Given the description of an element on the screen output the (x, y) to click on. 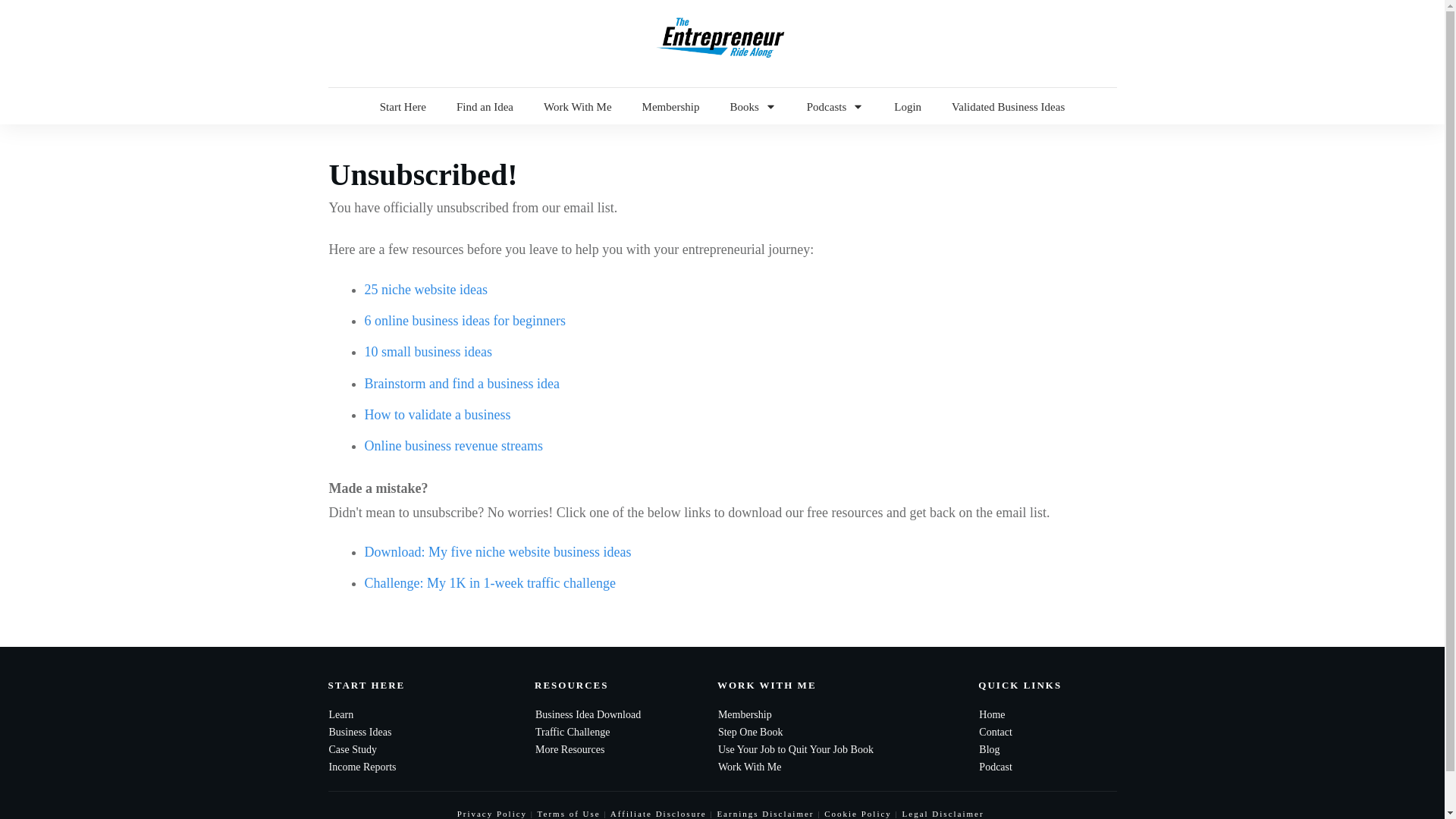
Find an Idea (485, 106)
Work With Me (577, 106)
Challenge: My 1K in 1-week traffic challenge (489, 582)
Membership (671, 106)
Traffic Challenge (572, 731)
Home (991, 714)
Download: My five niche website business ideas (497, 551)
More Resources (569, 749)
Income Reports (362, 767)
6 online business ideas for beginners (464, 320)
